Given the description of an element on the screen output the (x, y) to click on. 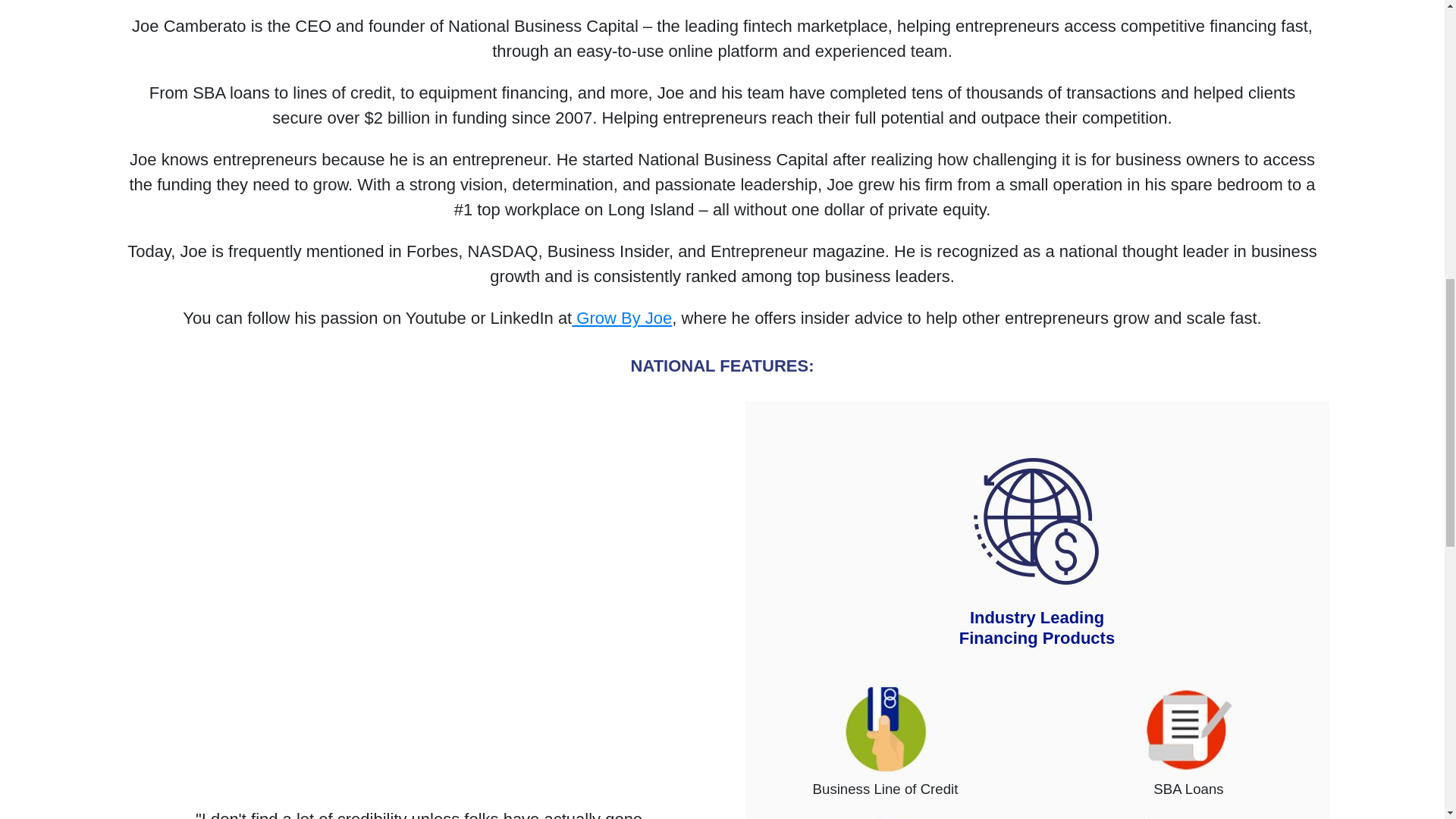
Grow-By-Joe-Landing-Page-SBA Loans (1188, 729)
 Grow By Joe (621, 317)
Grow-By-Joe-Landing-Page-Equipment Financing (1188, 818)
Grow-By-Joe-Landing-Page-Small Business Loans (885, 818)
business-line-of-credit (885, 729)
